Given the description of an element on the screen output the (x, y) to click on. 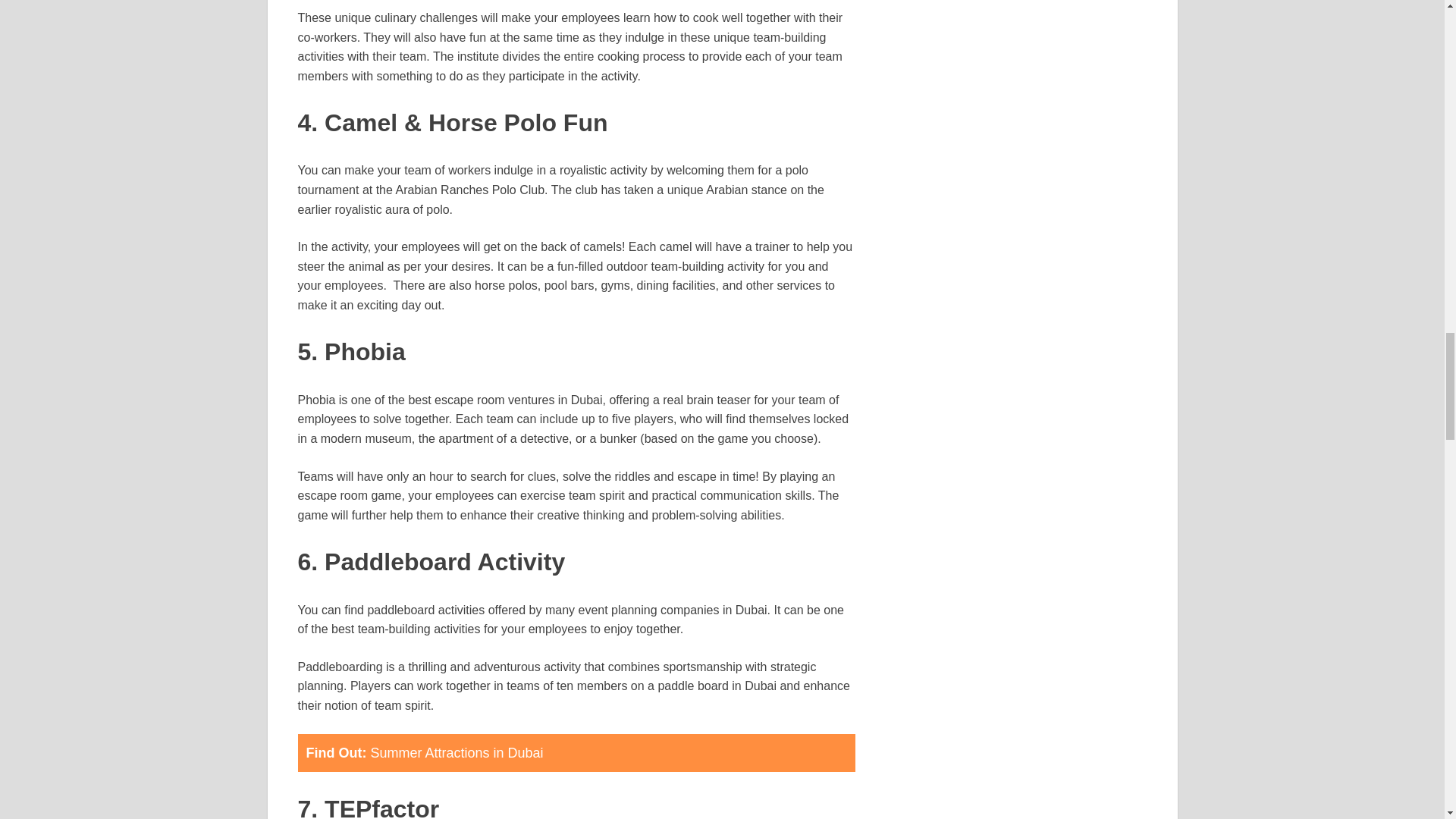
Summer Attractions in Dubai (456, 752)
